Given the description of an element on the screen output the (x, y) to click on. 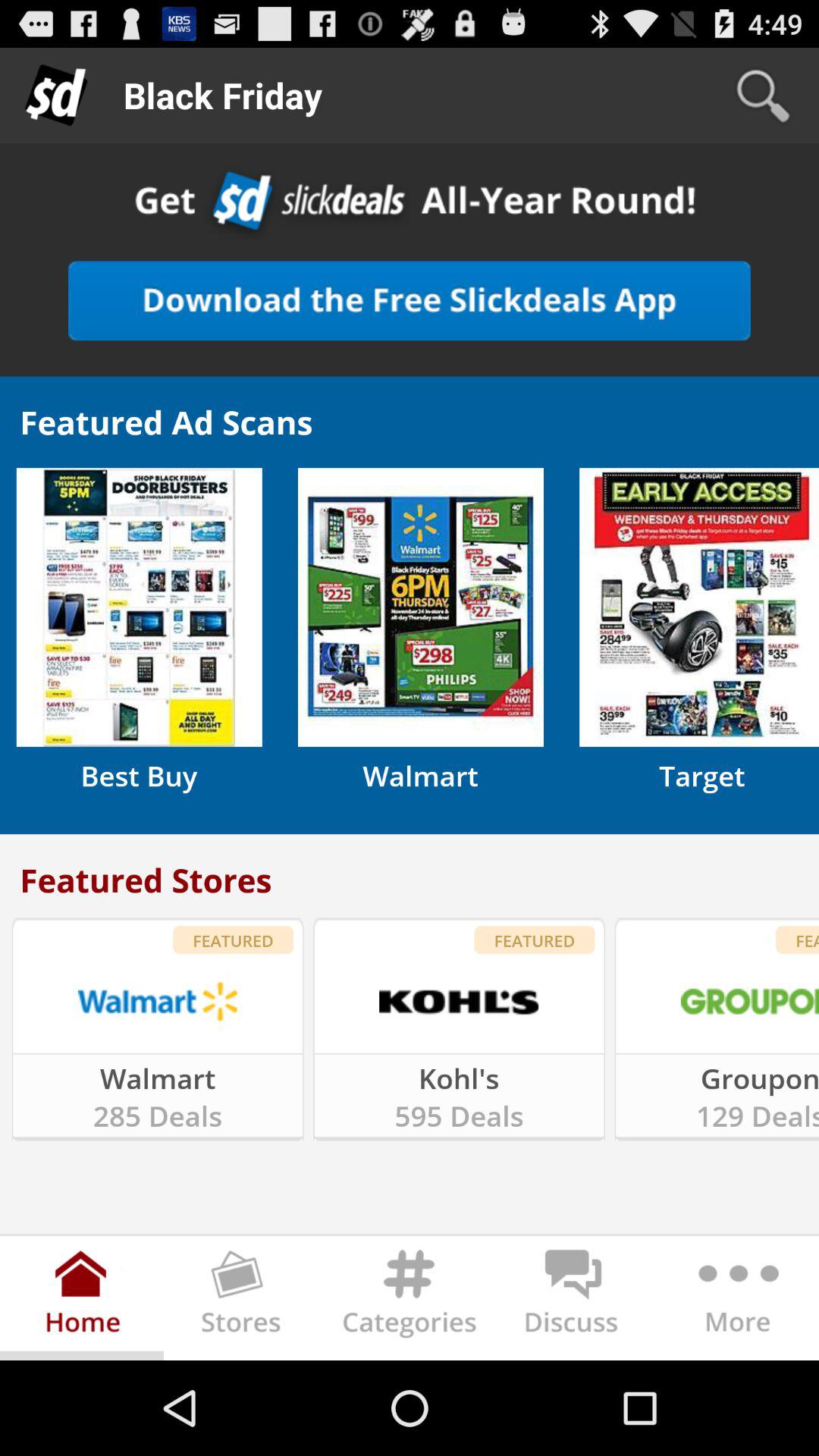
go home (81, 1301)
